Given the description of an element on the screen output the (x, y) to click on. 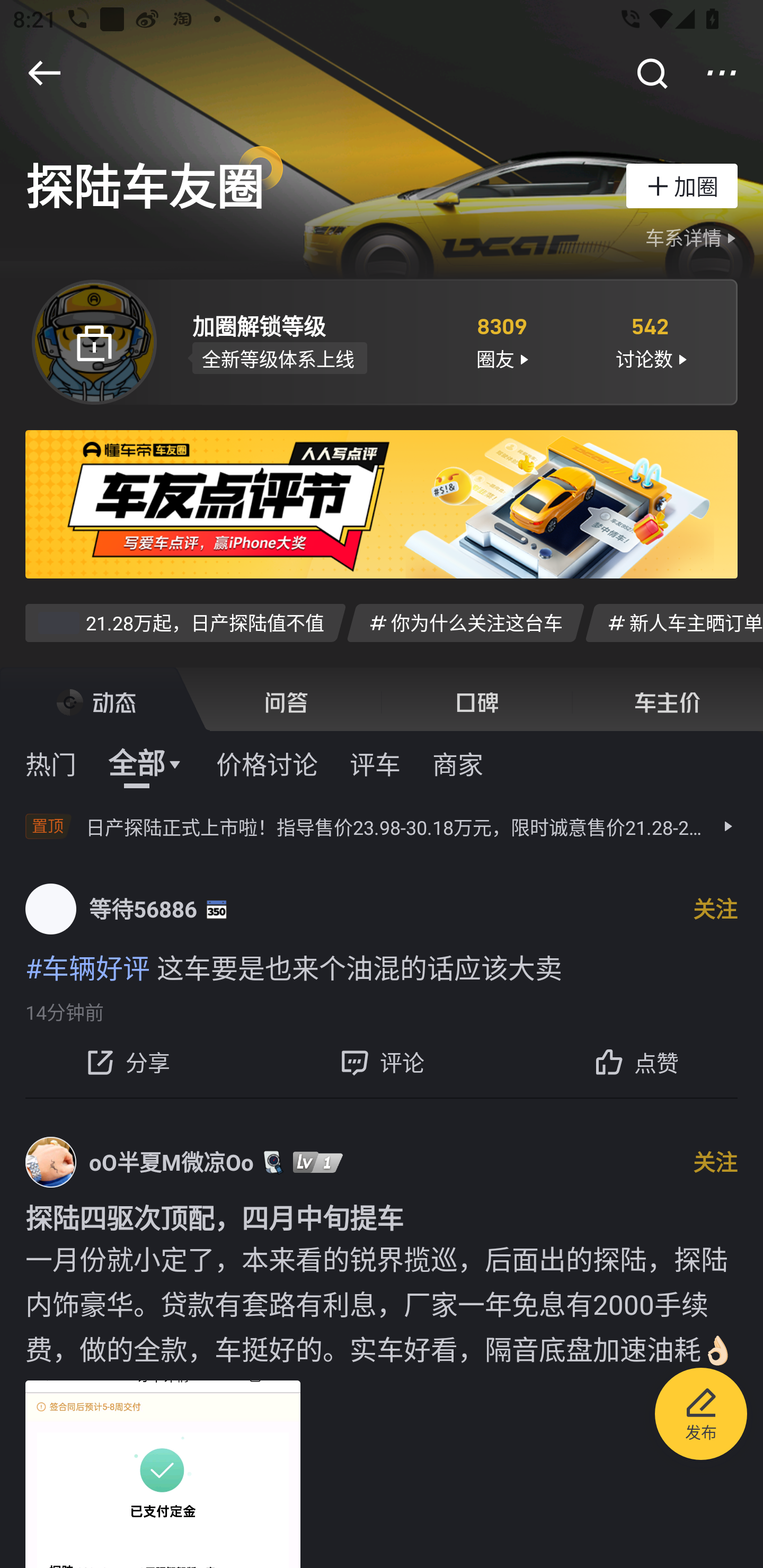
 (44, 72)
 (651, 72)
 (721, 72)
车系详情 (692, 238)
加圈解锁等级 全新等级体系上线 (307, 341)
8309 圈友 (501, 341)
542 讨论数 (650, 341)
打卡 21.28万起，日产探陆值不值 (185, 622)
 你为什么关注这台车 (465, 622)
 新人车主晒订单 (674, 622)
热门 (50, 762)
全部  (146, 762)
价格讨论 (266, 762)
评车 (374, 762)
商家 (457, 762)
关注 (714, 909)
等待56886 (142, 909)
#车辆好评 这车要是也来个油混的话应该大卖 (381, 966)
 分享 (127, 1062)
 评论 (381, 1062)
点赞 (635, 1062)
关注 (714, 1161)
oO半夏M微凉Oo (171, 1161)
 发布 (701, 1416)
